Given the description of an element on the screen output the (x, y) to click on. 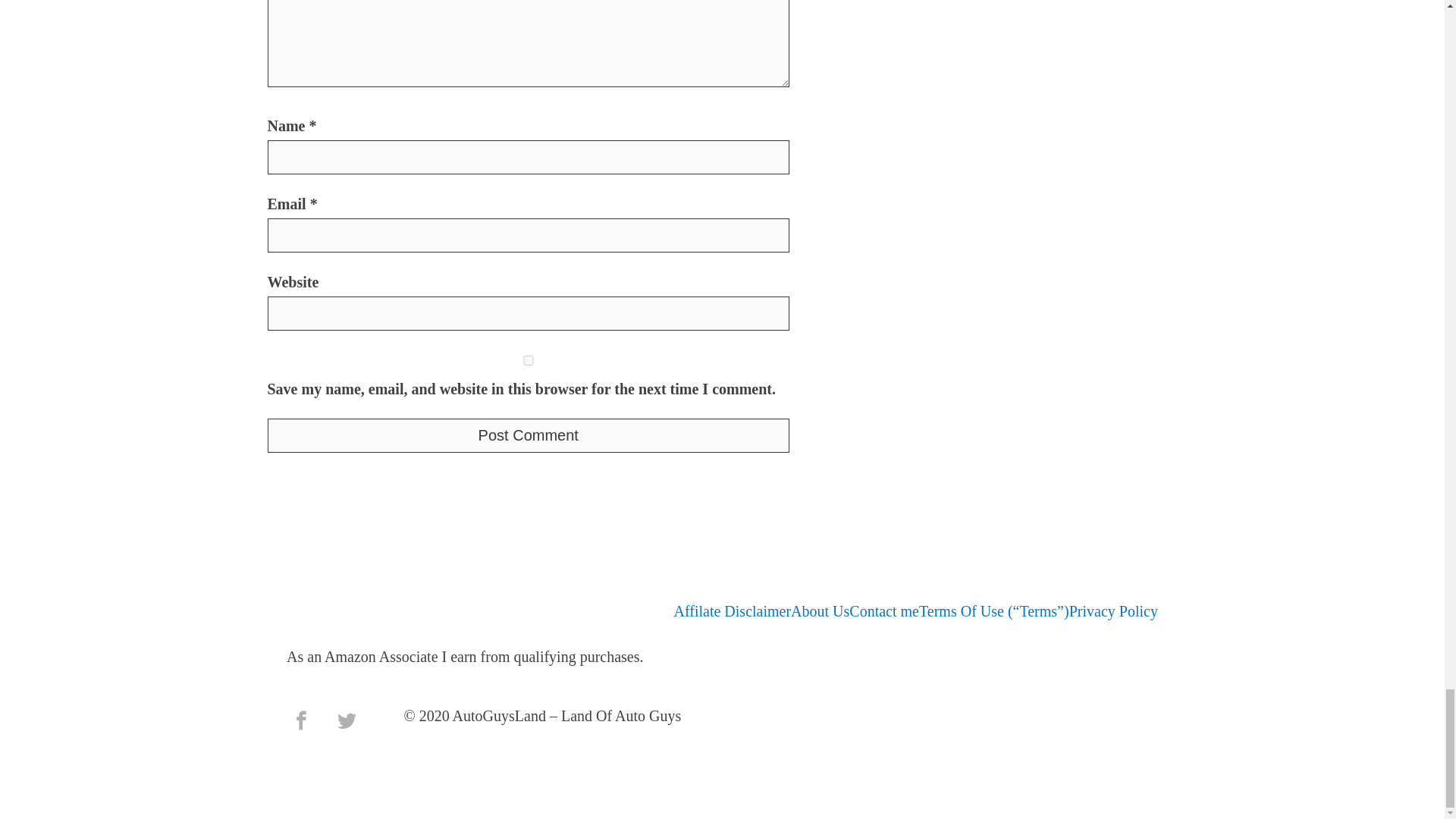
Autoguysland on Twitter (346, 720)
Privacy Policy (1112, 611)
Affilate Disclaimer (733, 611)
Post Comment (527, 435)
yes (527, 360)
Contact me (883, 611)
Post Comment (527, 435)
Autoguysland on Facebook (301, 720)
About Us (819, 611)
